Given the description of an element on the screen output the (x, y) to click on. 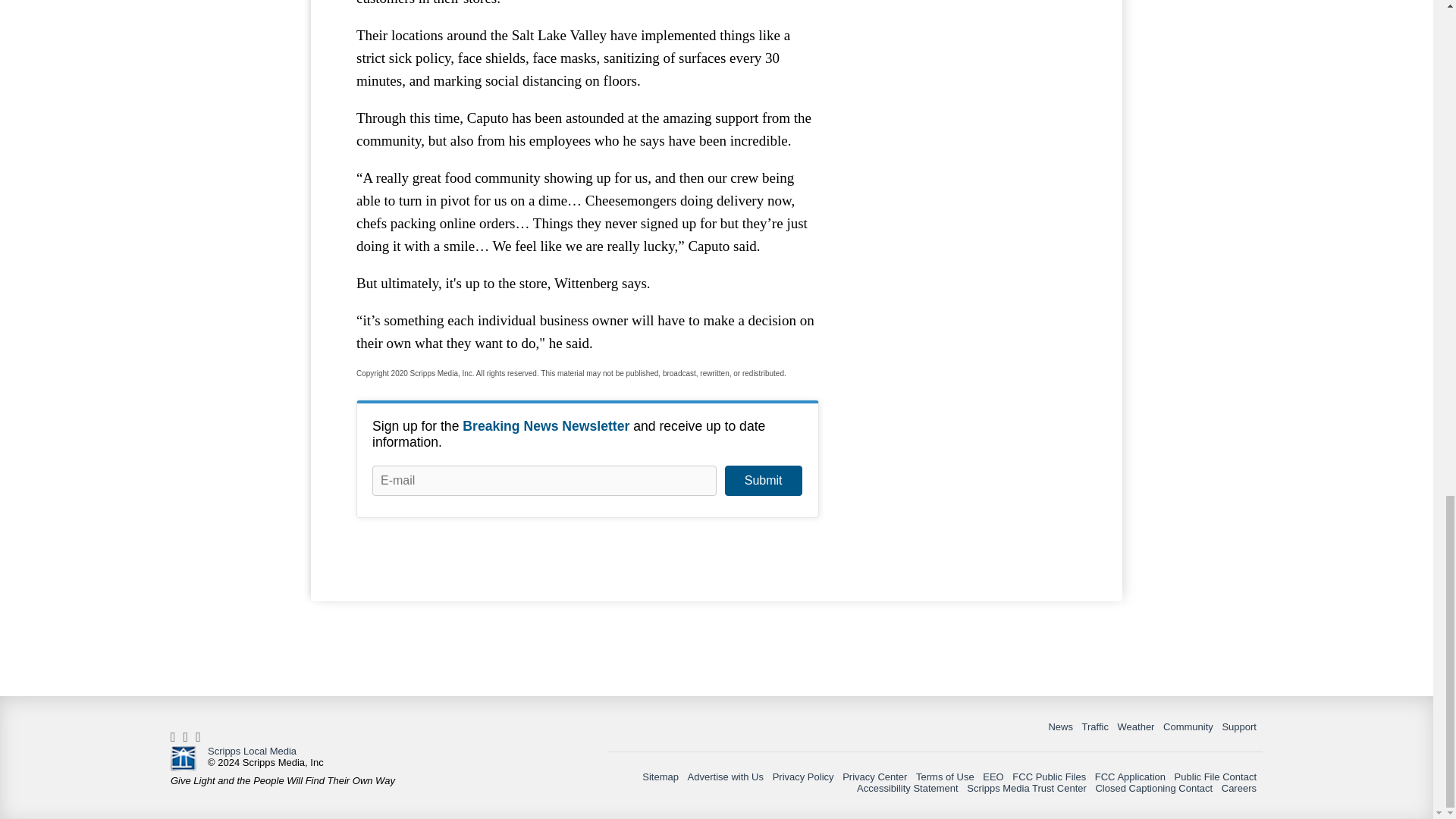
Submit (763, 481)
